Given the description of an element on the screen output the (x, y) to click on. 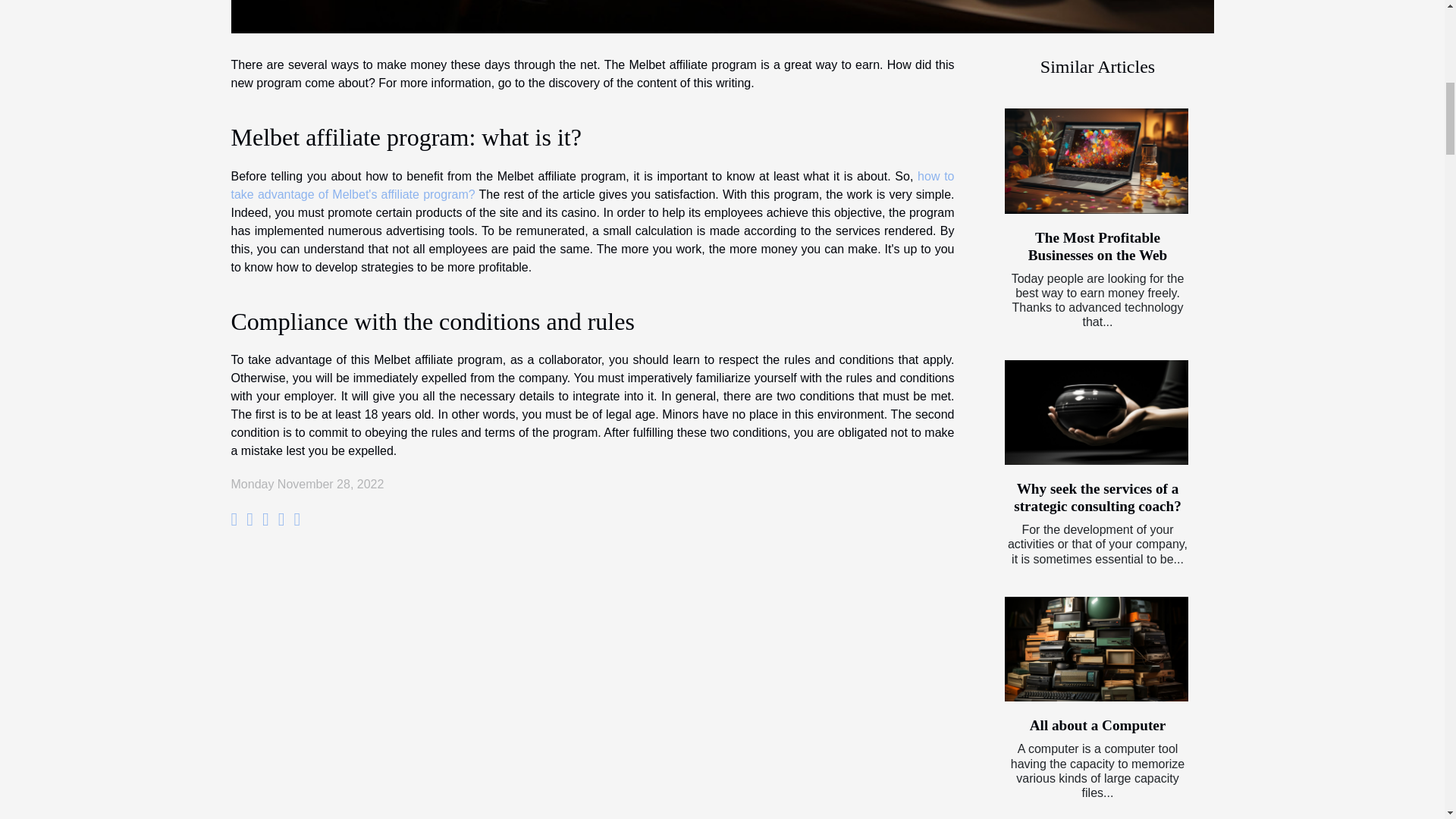
The Most Profitable Businesses on the Web (1097, 246)
All about a Computer (1097, 725)
All about a Computer (1097, 725)
Why seek the services of a strategic consulting coach? (1096, 497)
The Most Profitable Businesses on the Web (1097, 246)
The Most Profitable Businesses on the Web (1096, 160)
All about a Computer (1096, 649)
Why seek the services of a strategic consulting coach? (1096, 413)
how to take advantage of Melbet's affiliate program? (591, 184)
Why seek the services of a strategic consulting coach? (1096, 497)
